Given the description of an element on the screen output the (x, y) to click on. 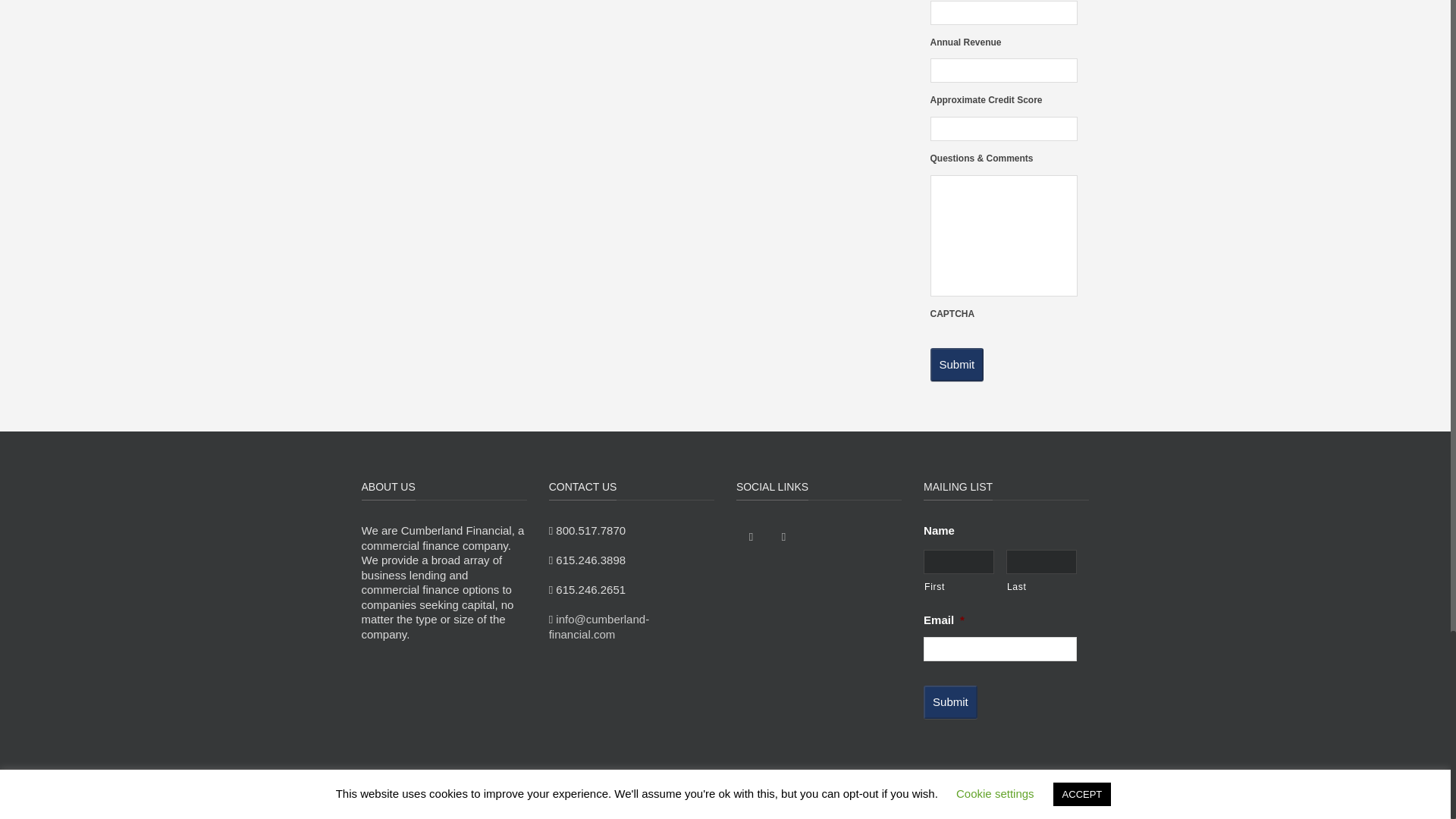
Submit (957, 364)
Submit (949, 702)
